Given the description of an element on the screen output the (x, y) to click on. 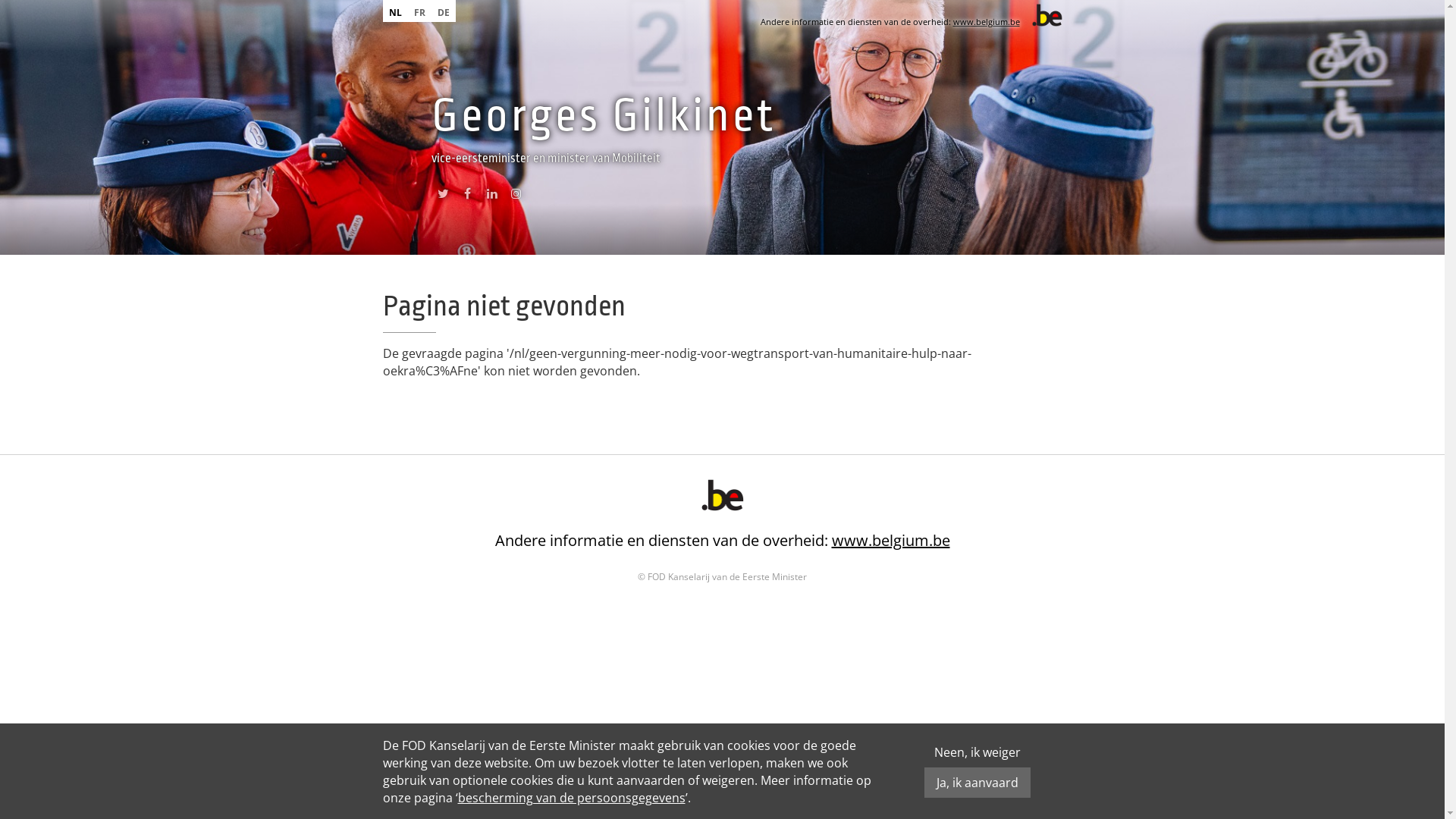
instagram Element type: text (515, 197)
www.belgium.be Element type: text (985, 21)
twitter Element type: text (442, 197)
FR Element type: text (419, 11)
Overslaan en naar de inhoud gaan Element type: text (98, 0)
www.belgium.be Element type: text (890, 540)
linkedin Element type: text (491, 197)
Georges Gilkinet Element type: text (602, 115)
NL Element type: text (394, 11)
facebook Element type: text (467, 197)
bescherming van de persoonsgegevens Element type: text (571, 797)
Ja, ik aanvaard Element type: text (976, 782)
Neen, ik weiger Element type: text (977, 752)
DE Element type: text (442, 11)
